Given the description of an element on the screen output the (x, y) to click on. 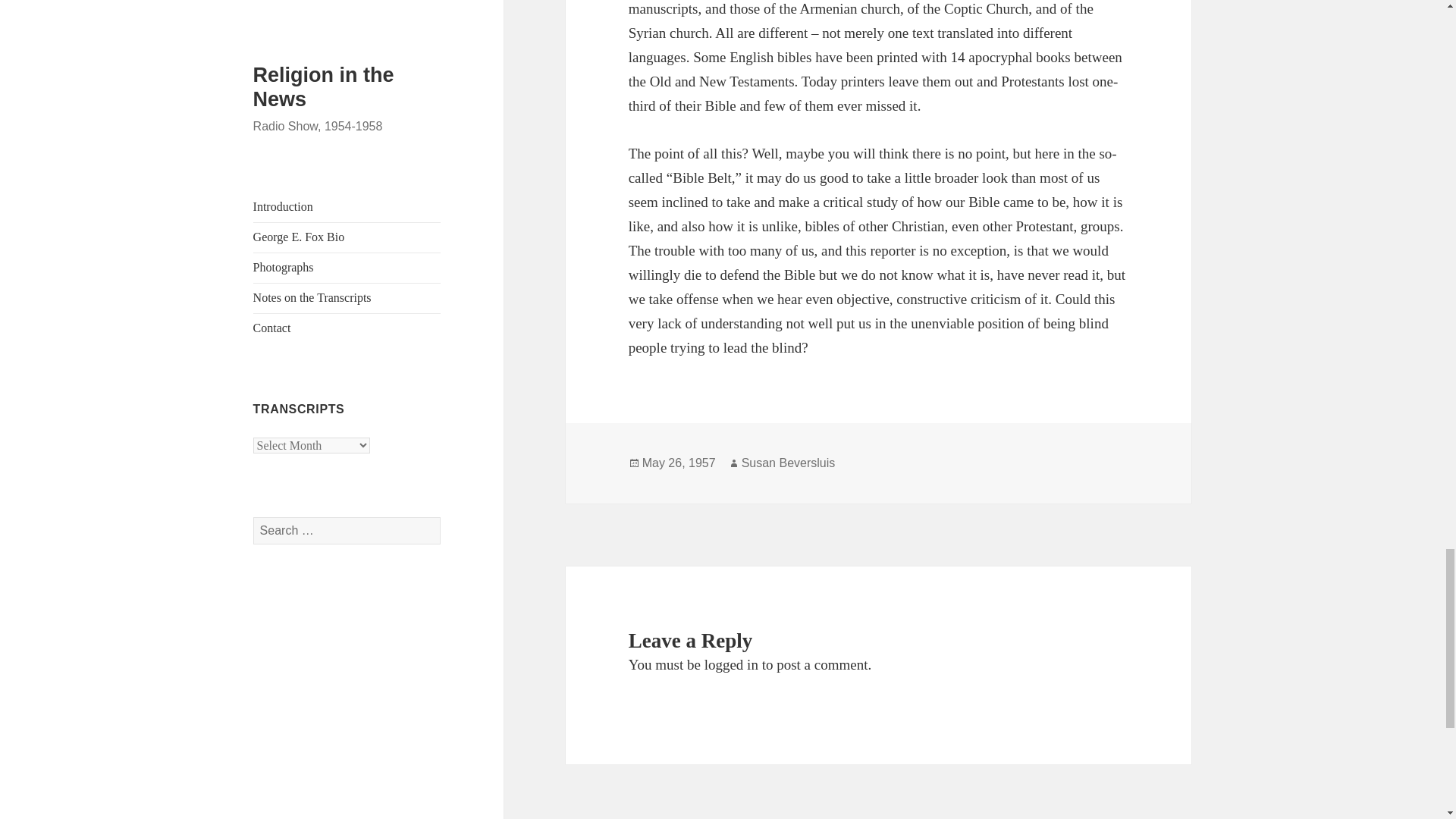
logged in (731, 664)
Susan Beversluis (788, 463)
May 26, 1957 (679, 463)
